Given the description of an element on the screen output the (x, y) to click on. 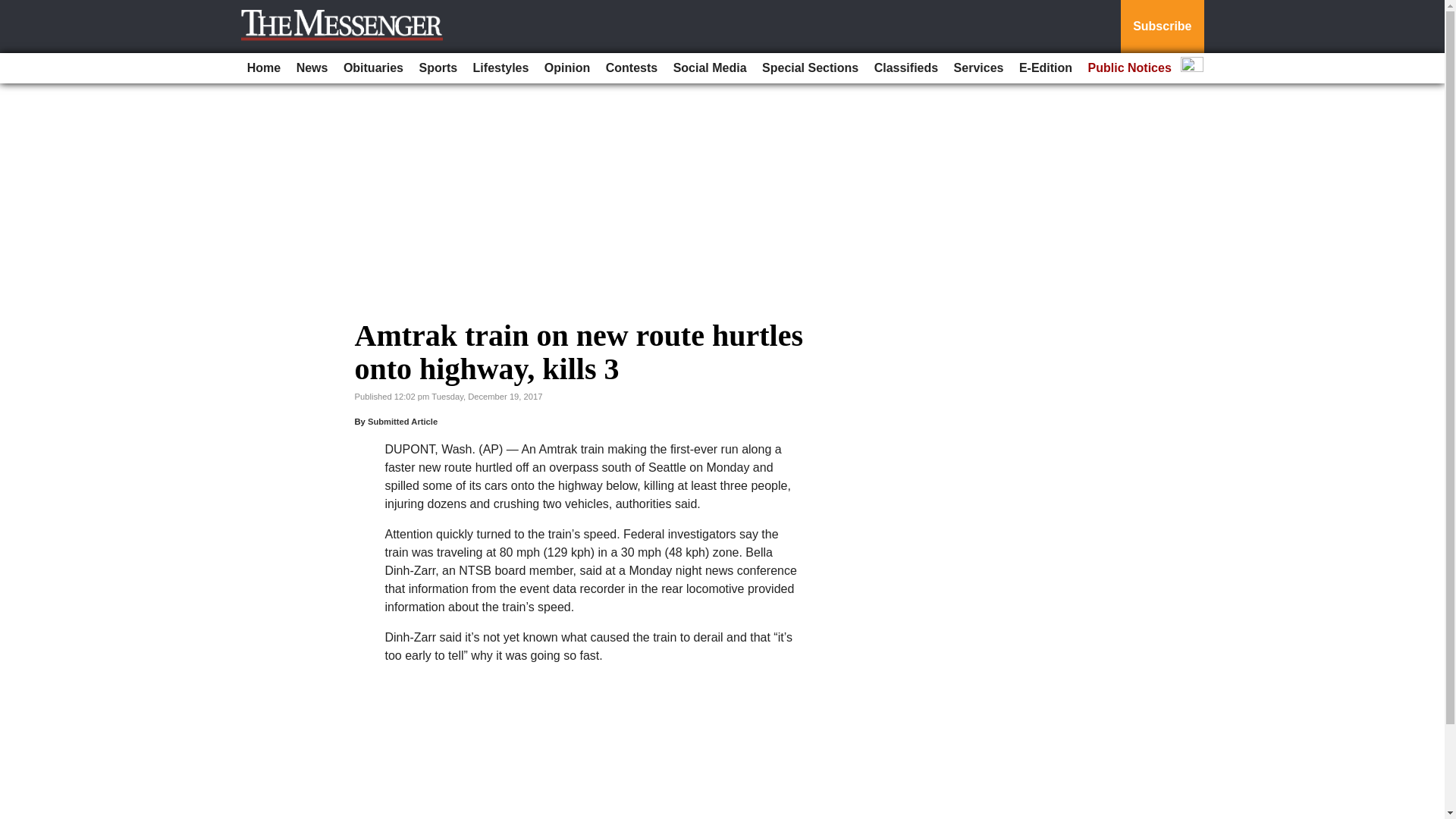
Social Media (709, 68)
Opinion (566, 68)
Public Notices (1129, 68)
Lifestyles (501, 68)
Classifieds (905, 68)
Home (263, 68)
Special Sections (809, 68)
Subscribe (1162, 26)
E-Edition (1045, 68)
Contests (631, 68)
